Given the description of an element on the screen output the (x, y) to click on. 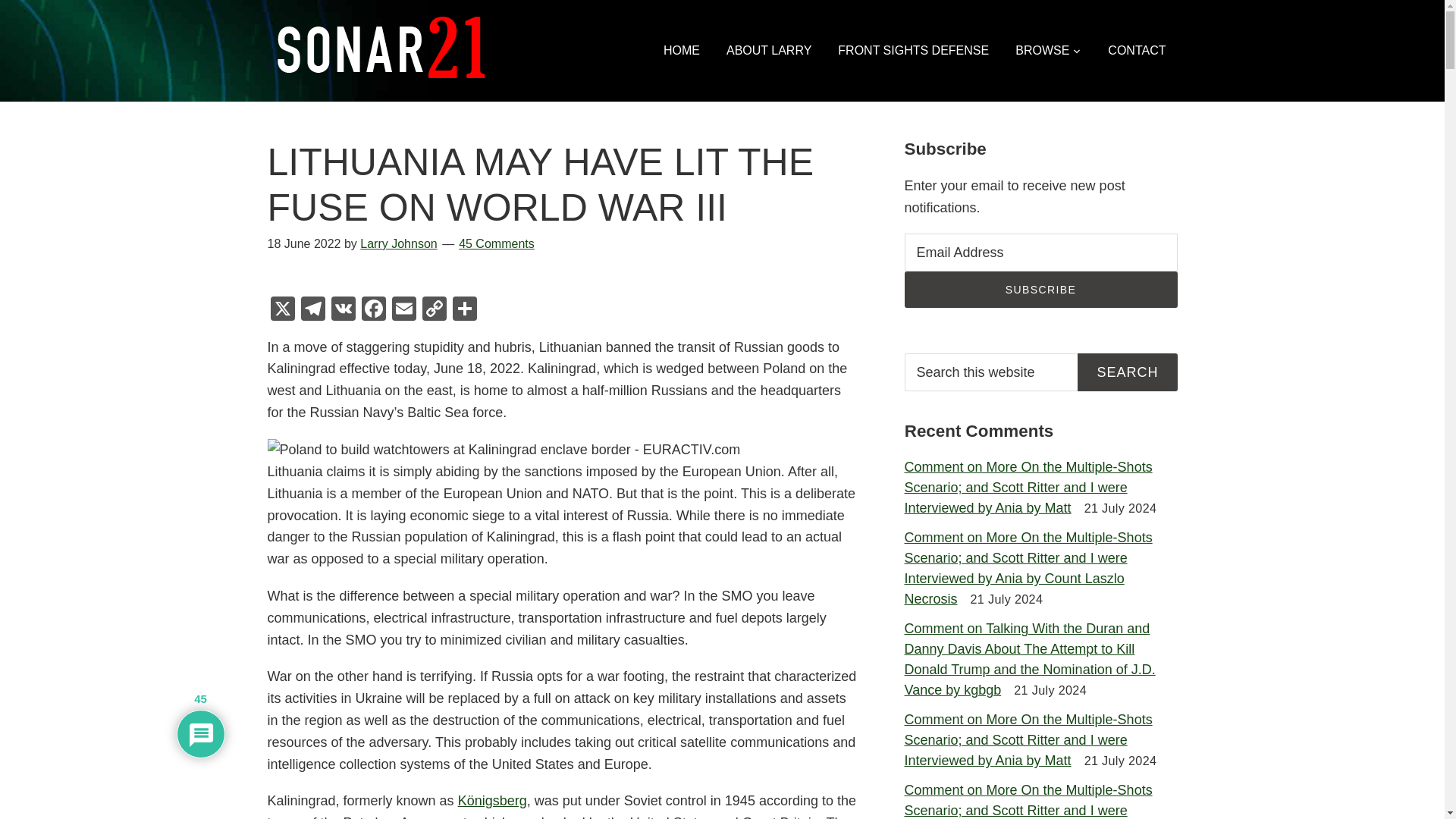
HOME (681, 50)
X (281, 310)
X (281, 310)
CONTACT (1136, 50)
Search (1126, 371)
Email (403, 310)
Email (403, 310)
Larry Johnson (397, 243)
FRONT SIGHTS DEFENSE (913, 50)
Copy Link (433, 310)
Search (1126, 371)
BROWSE (1048, 50)
ABOUT LARRY (768, 50)
VK (342, 310)
Copy Link (433, 310)
